Given the description of an element on the screen output the (x, y) to click on. 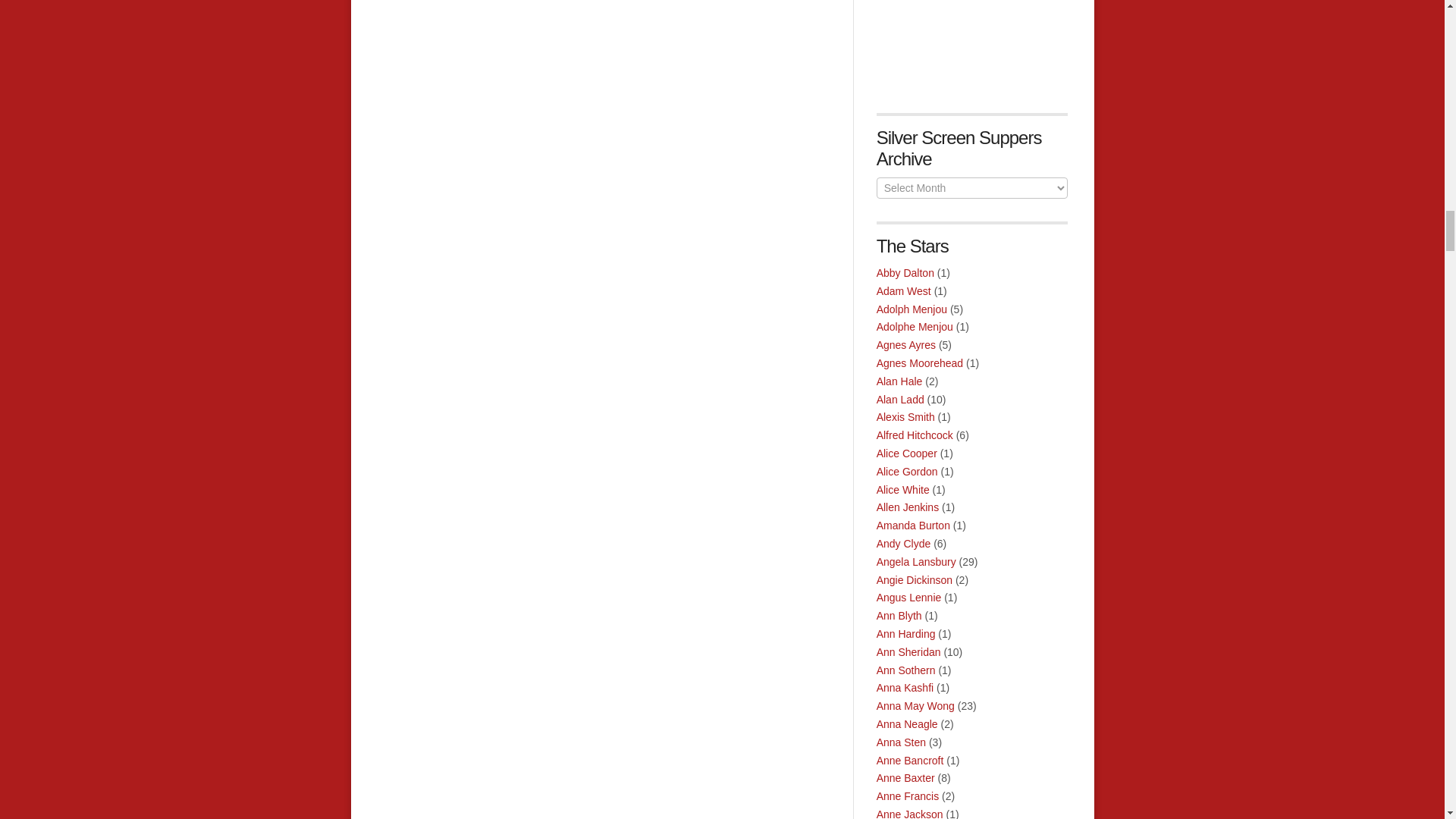
Abby Dalton (905, 272)
Adolph Menjou (911, 309)
Adam West (903, 291)
